Given the description of an element on the screen output the (x, y) to click on. 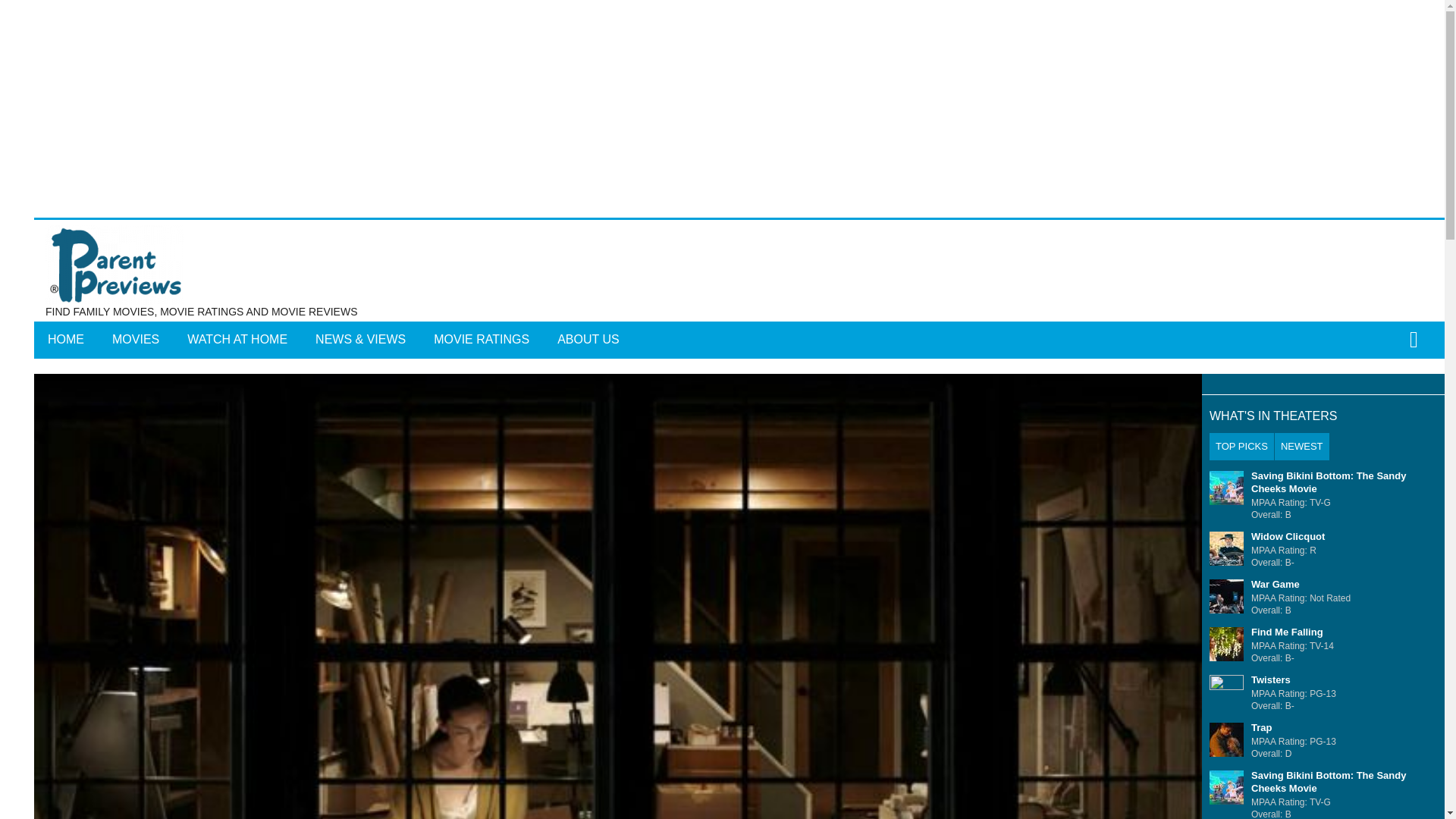
Search (763, 349)
TOP PICKS (1241, 446)
MOVIE RATINGS (481, 339)
ABOUT US (588, 339)
NEWEST (1302, 446)
War Game (1275, 583)
Widow Clicquot (1287, 536)
HOME (65, 339)
Saving Bikini Bottom: The Sandy Cheeks Movie (1328, 482)
MOVIES (136, 339)
